Given the description of an element on the screen output the (x, y) to click on. 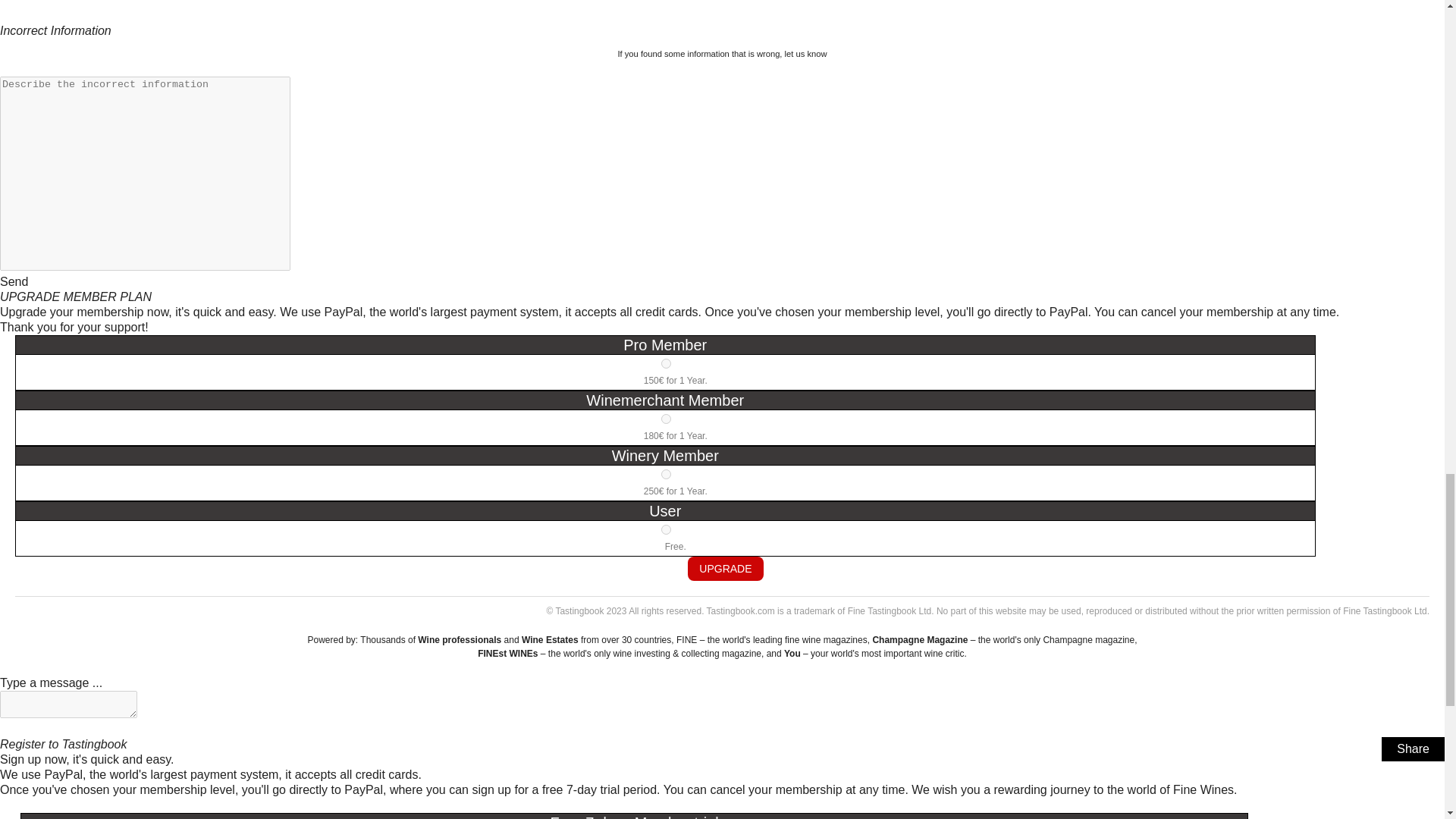
10 (666, 529)
9 (666, 474)
7 (666, 419)
5 (666, 363)
